Given the description of an element on the screen output the (x, y) to click on. 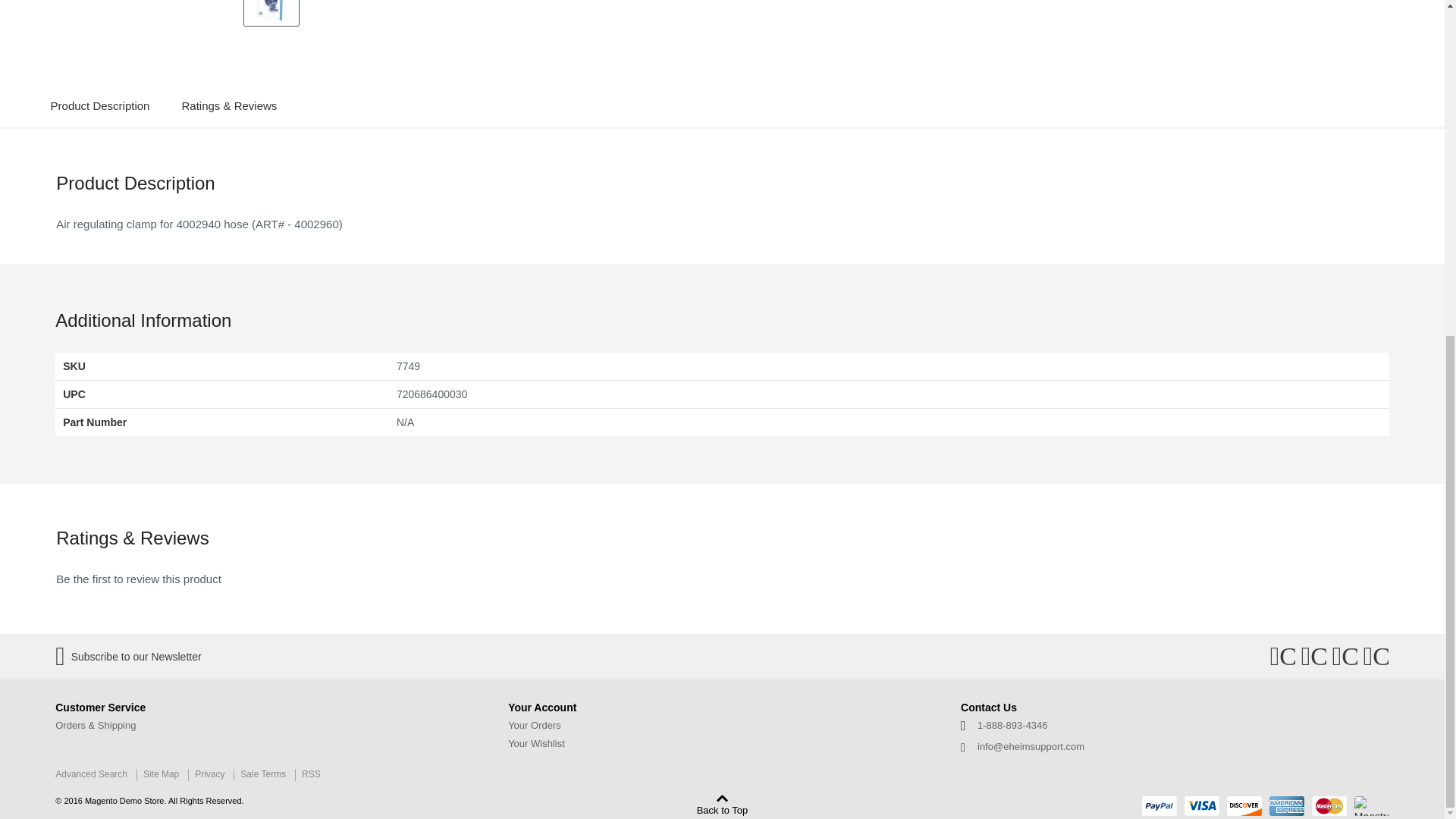
Connect with Us on YouTube (1375, 656)
Visa (1202, 805)
Connect with Us on Facebook (1282, 656)
Connect with Us on Instagram (1345, 656)
Discover (1244, 805)
PayPal (1158, 805)
Connect with Us on Twitter (1313, 656)
